Given the description of an element on the screen output the (x, y) to click on. 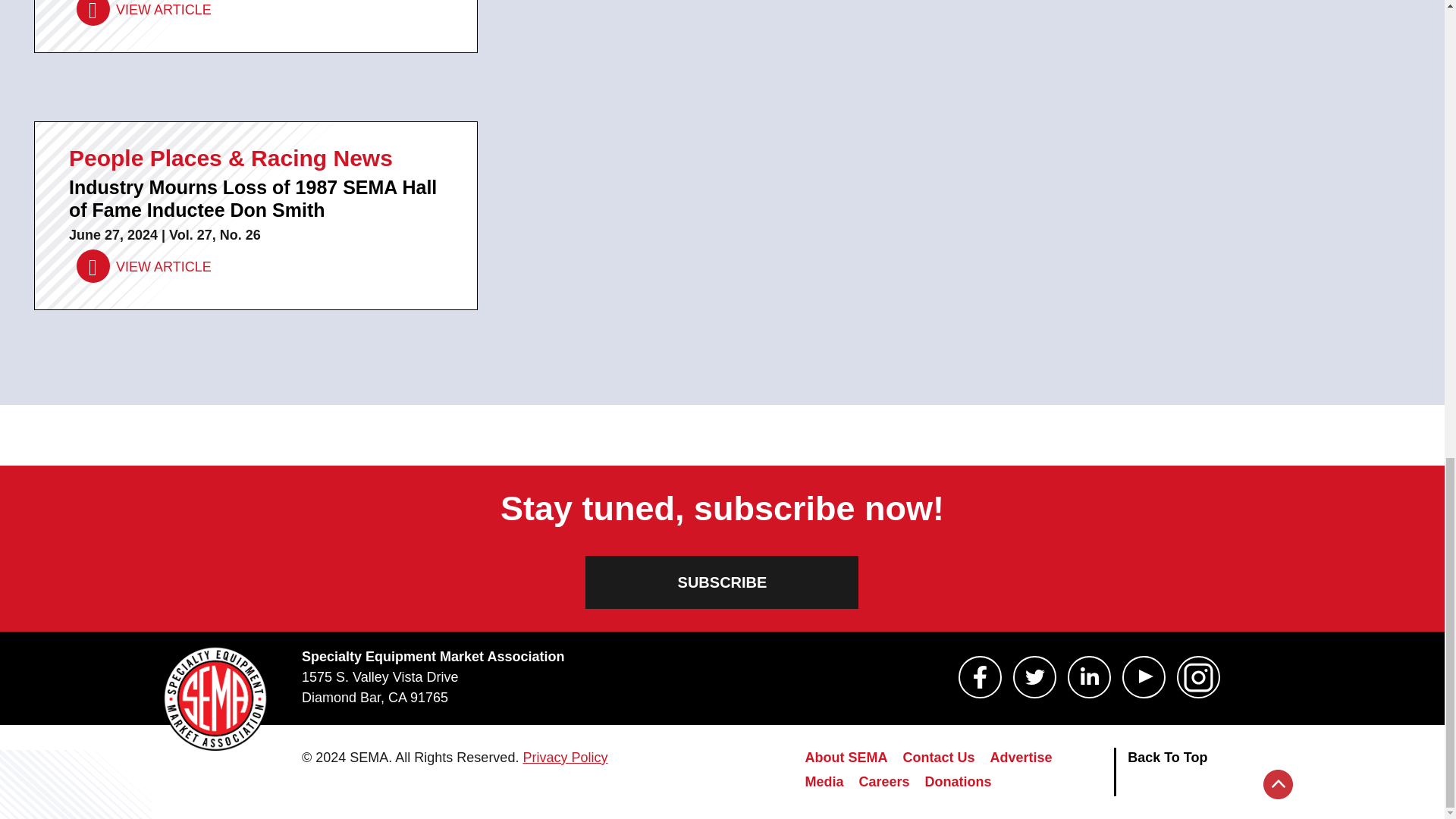
Privacy Policy (564, 757)
VIEW ARTICLE (143, 266)
SEMA LinkedIn Link (1088, 677)
SEMA YouTube Link (1144, 677)
SEMA Facebook Link (979, 677)
SUBSCRIBE (722, 582)
SEMA Twitter Link (1035, 677)
VIEW ARTICLE (143, 12)
SEMA Instagram Link (1198, 677)
